Given the description of an element on the screen output the (x, y) to click on. 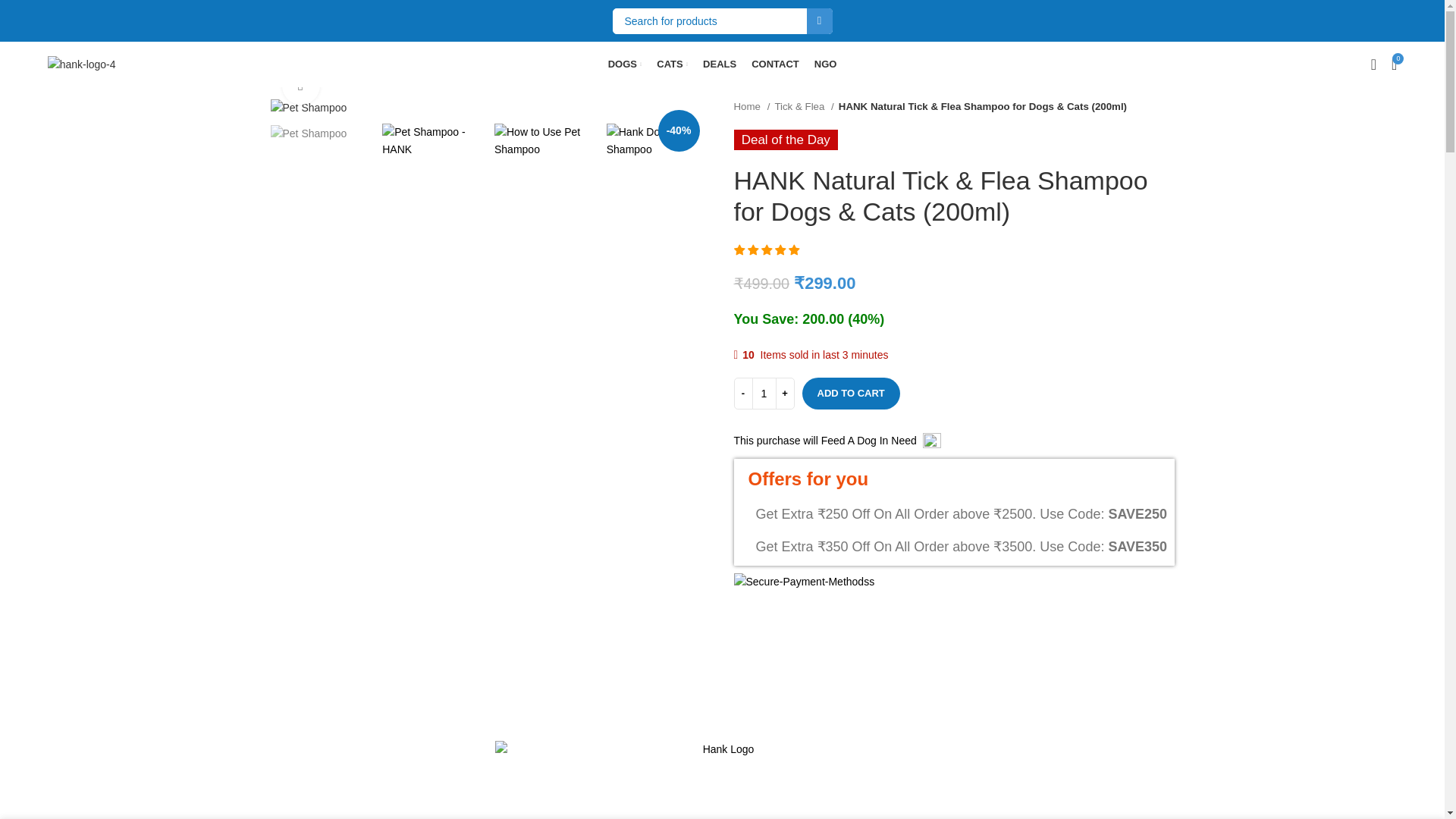
DOGS (722, 43)
Pet Shampoo (625, 64)
Search for products (307, 107)
SEARCH (722, 20)
